Given the description of an element on the screen output the (x, y) to click on. 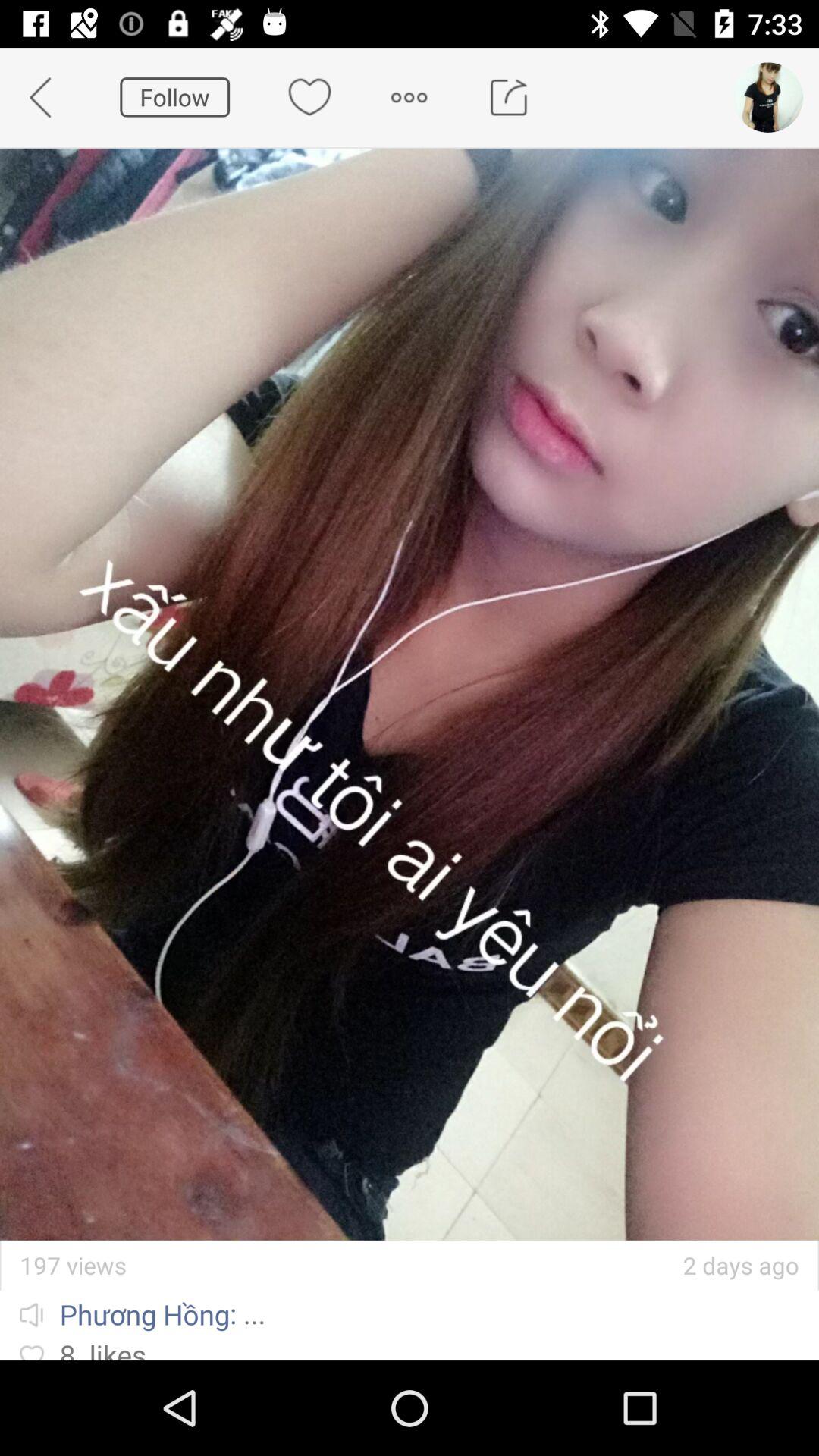
press the app next to the follow app (49, 97)
